Given the description of an element on the screen output the (x, y) to click on. 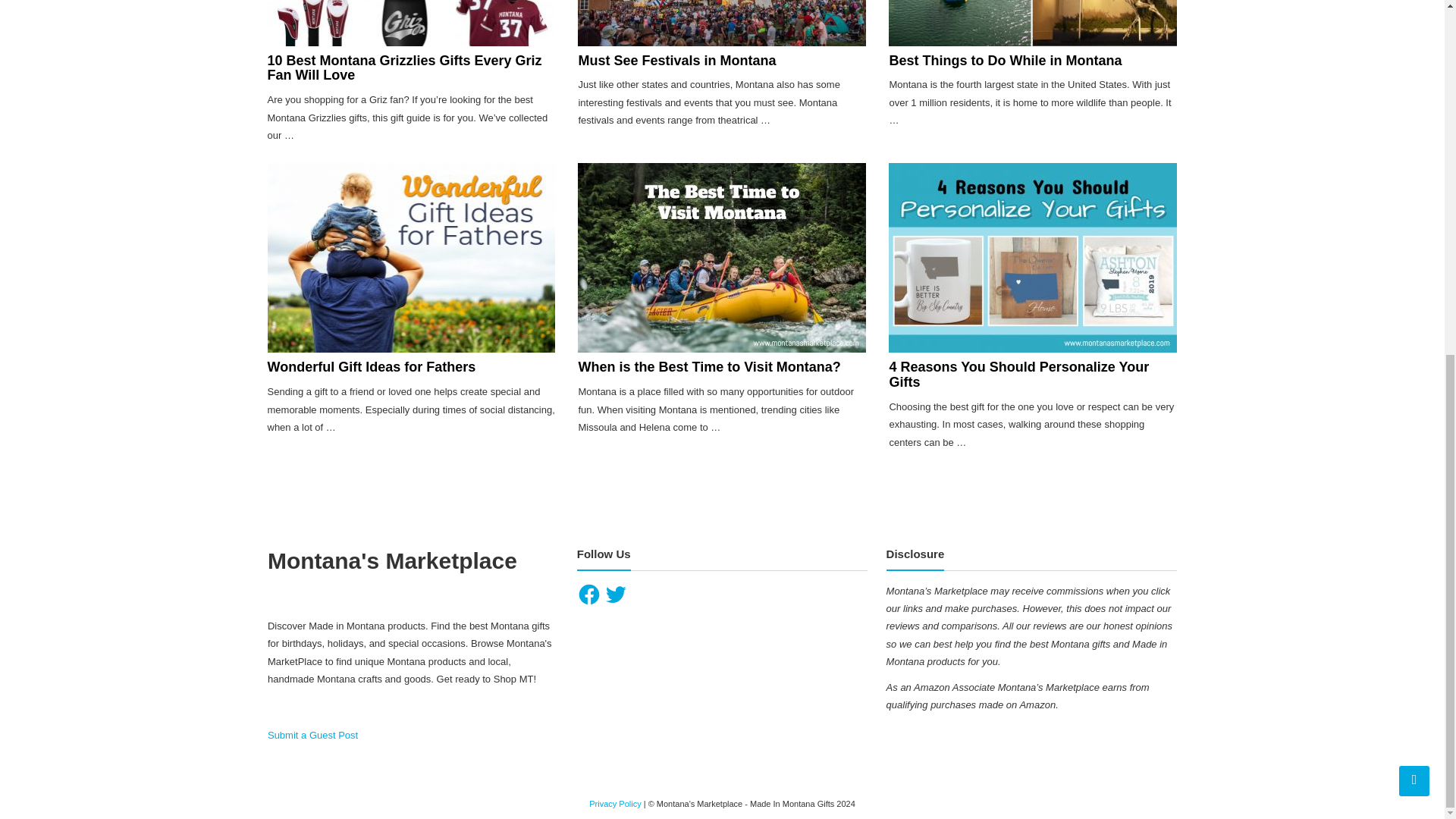
Must See Festivals in Montana (677, 60)
4 Reasons You Should Personalize Your Gifts (1018, 374)
Best Things to Do While in Montana (1004, 60)
Wonderful Gift Ideas for Fathers (371, 366)
Submit a Guest Post (312, 735)
Facebook (588, 594)
Privacy Policy (614, 803)
10 Best Montana Grizzlies Gifts Every Griz Fan Will Love (403, 68)
Twitter (615, 594)
When is the Best Time to Visit Montana? (709, 366)
